Given the description of an element on the screen output the (x, y) to click on. 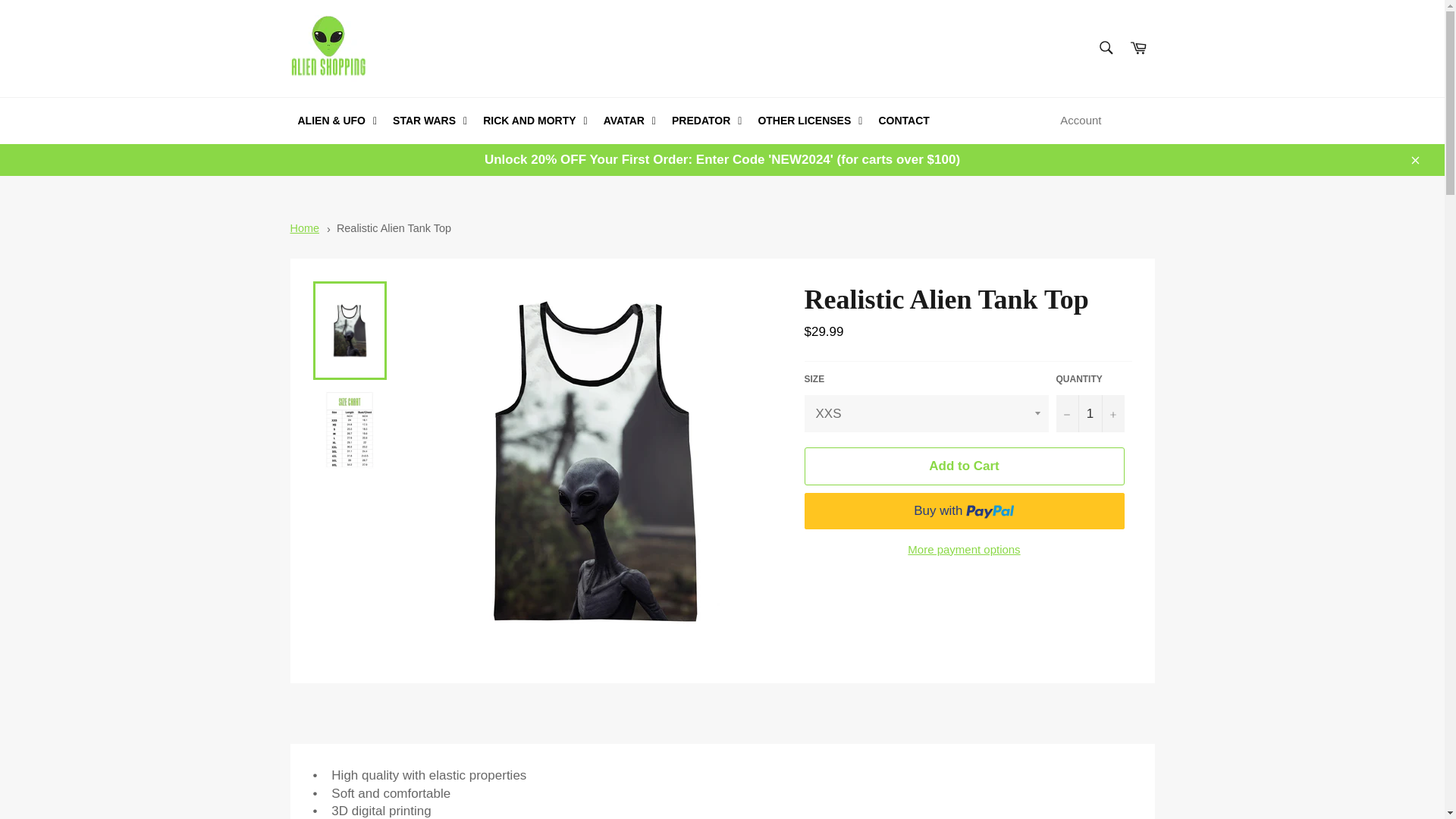
1 (1089, 413)
